Given the description of an element on the screen output the (x, y) to click on. 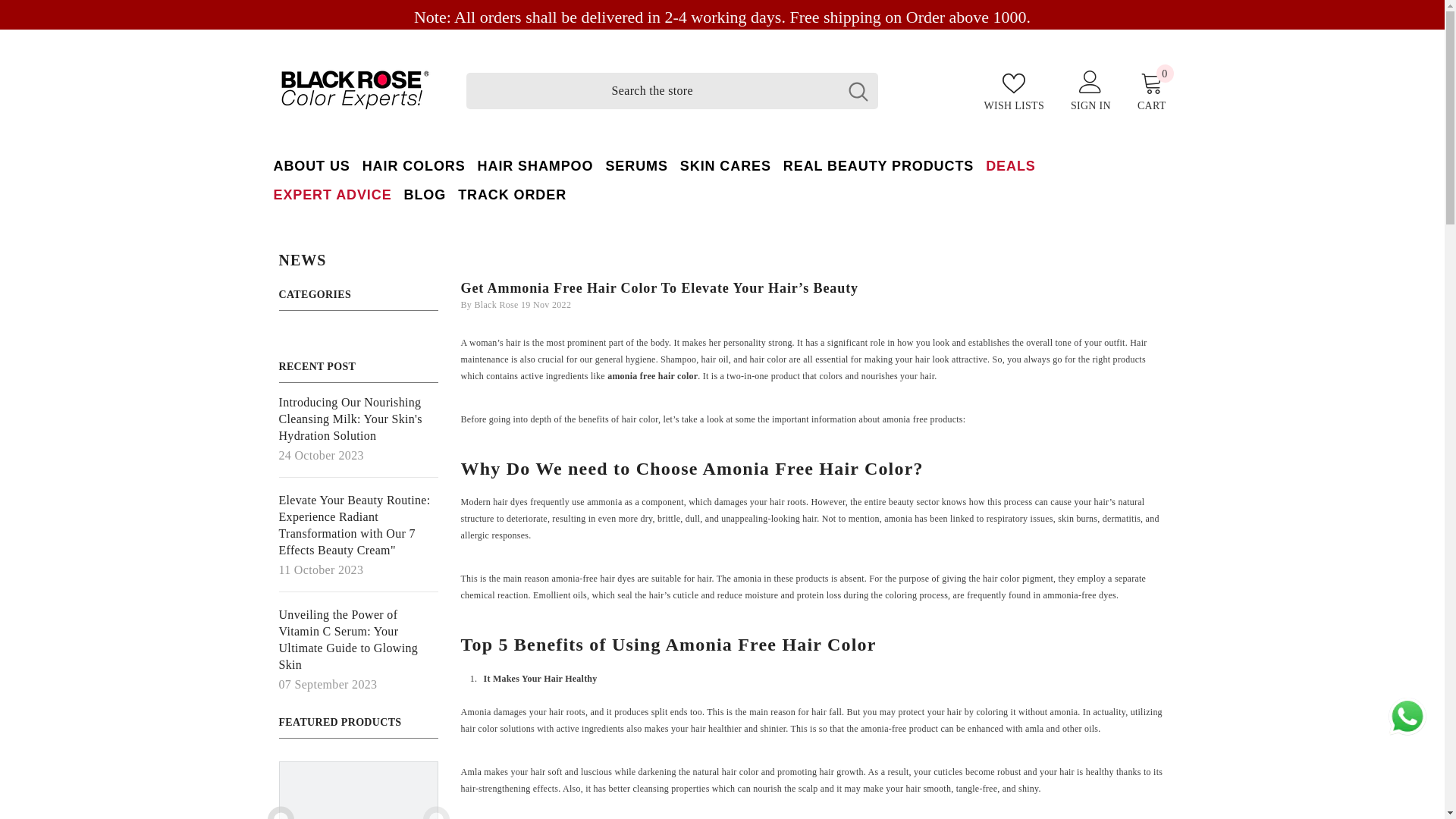
HAIR SHAMPOO (535, 165)
BLOG (424, 194)
HAIR COLORS (413, 165)
SERUMS (635, 165)
user (1090, 80)
ABOUT US (310, 165)
DEALS (1010, 165)
EXPERT ADVICE (331, 194)
TRACK ORDER (511, 194)
SKIN CARES (725, 165)
REAL BEAUTY PRODUCTS (878, 165)
